Given the description of an element on the screen output the (x, y) to click on. 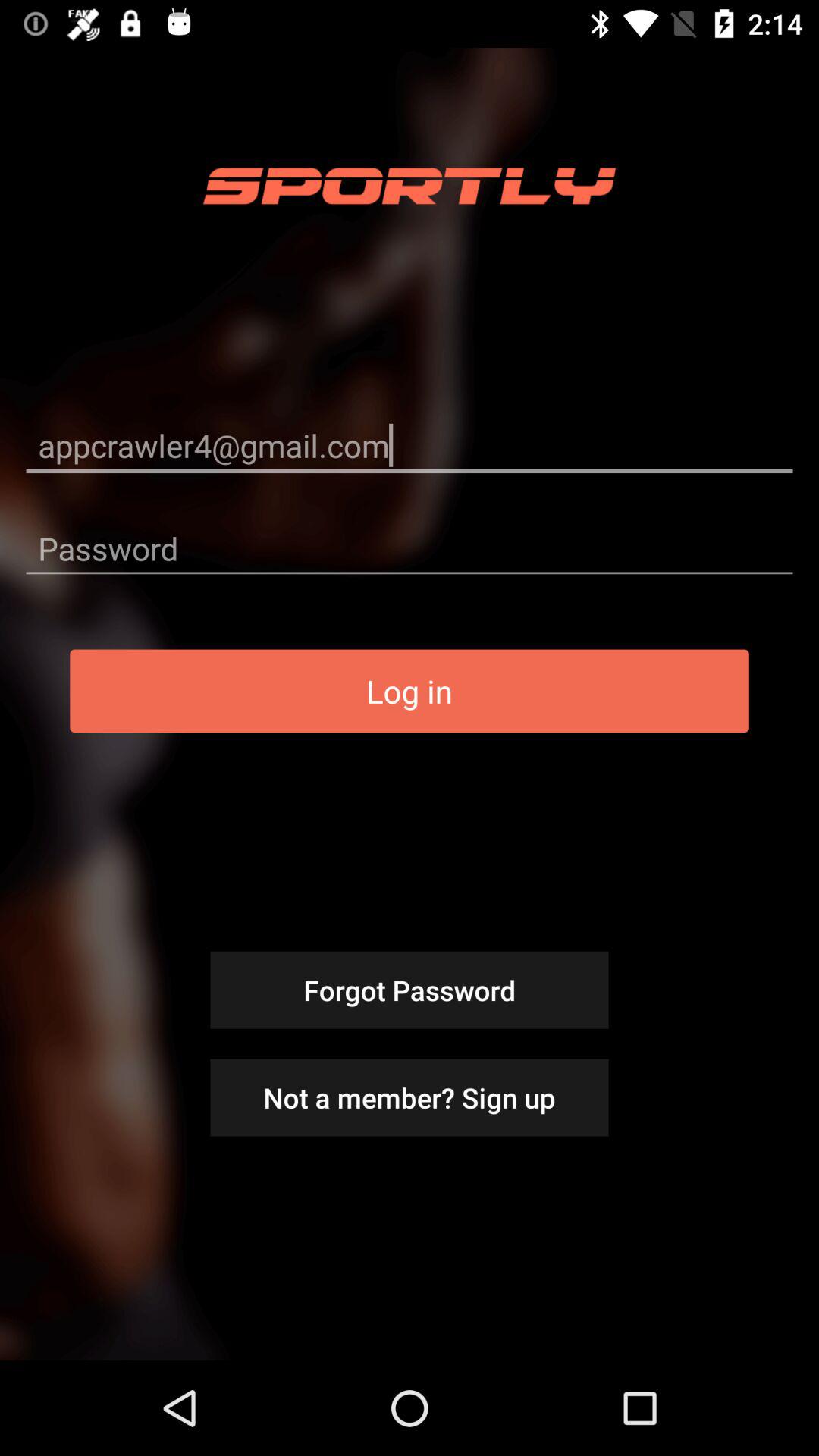
tap the appcrawler4@gmail.com icon (409, 444)
